Given the description of an element on the screen output the (x, y) to click on. 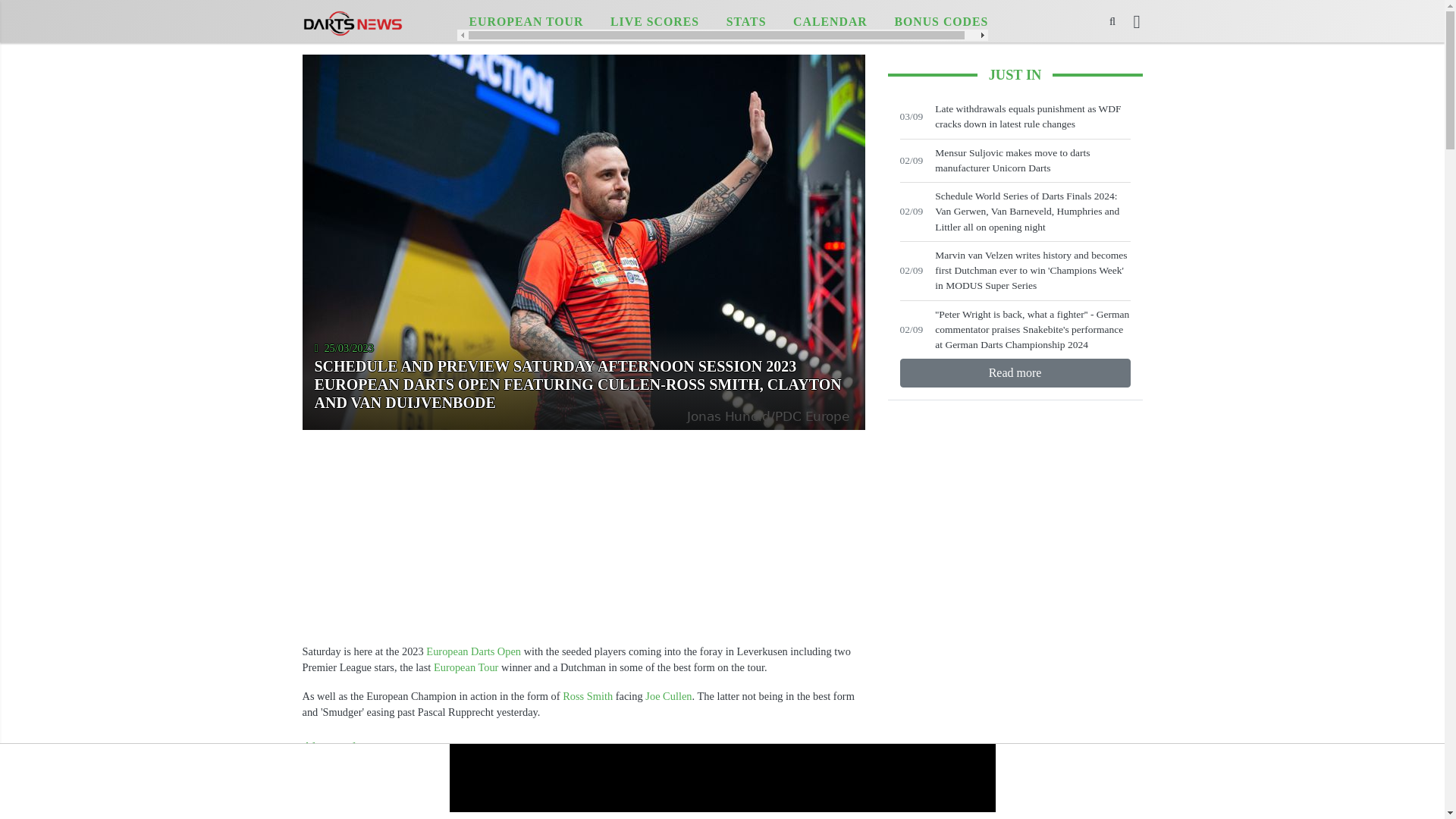
STATS (746, 22)
European Darts Open (473, 651)
LIVE SCORES (654, 22)
Joe Cullen (668, 695)
BONUS CODES (941, 22)
European Tour (465, 666)
European Darts Open (473, 651)
